Given the description of an element on the screen output the (x, y) to click on. 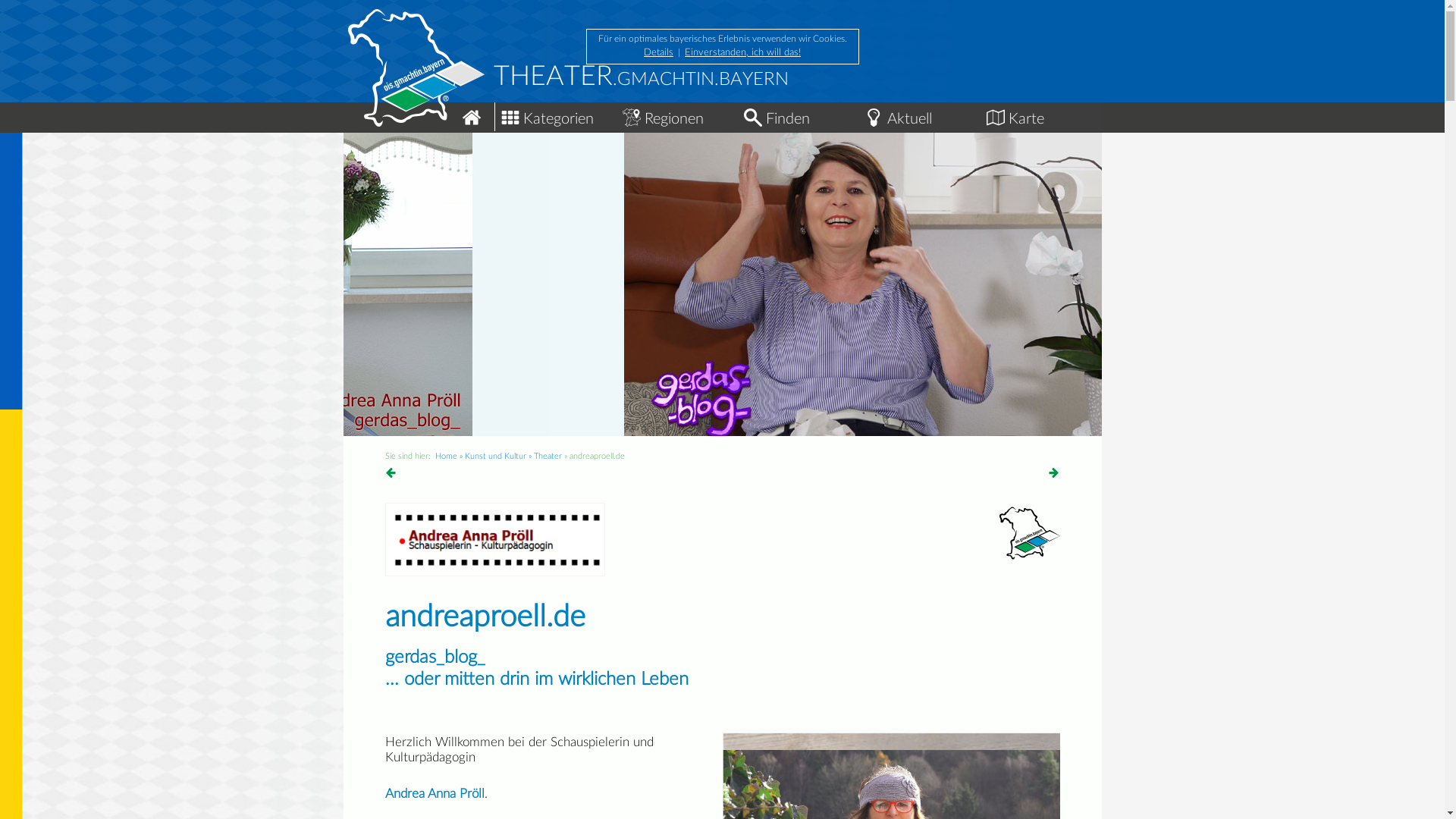
auf der Karte bei gmachtin.bayern Element type: hover (994, 117)
Kategorien Element type: text (554, 115)
dahoam bei gmachtin.bayern Element type: hover (471, 117)
kategorien bei gmachtin.bayern Element type: hover (509, 117)
Details Element type: text (658, 52)
Aktuell Element type: text (918, 115)
Karte Element type: text (1040, 115)
Home Element type: text (417, 111)
Theater Element type: text (547, 455)
Finden bei gmachtin.bayern Element type: hover (752, 117)
gmachtin.bayern - logo Element type: hover (1029, 532)
Kunst und Kultur Element type: text (494, 455)
in den Regionen bei gmachtin.bayern Element type: hover (630, 117)
Regionen Element type: text (676, 115)
Einverstanden, ich will das! Element type: text (742, 52)
Aktuelle Events im Freistaat Element type: hover (873, 117)
Finden Element type: text (797, 115)
Home Element type: text (446, 455)
